Given the description of an element on the screen output the (x, y) to click on. 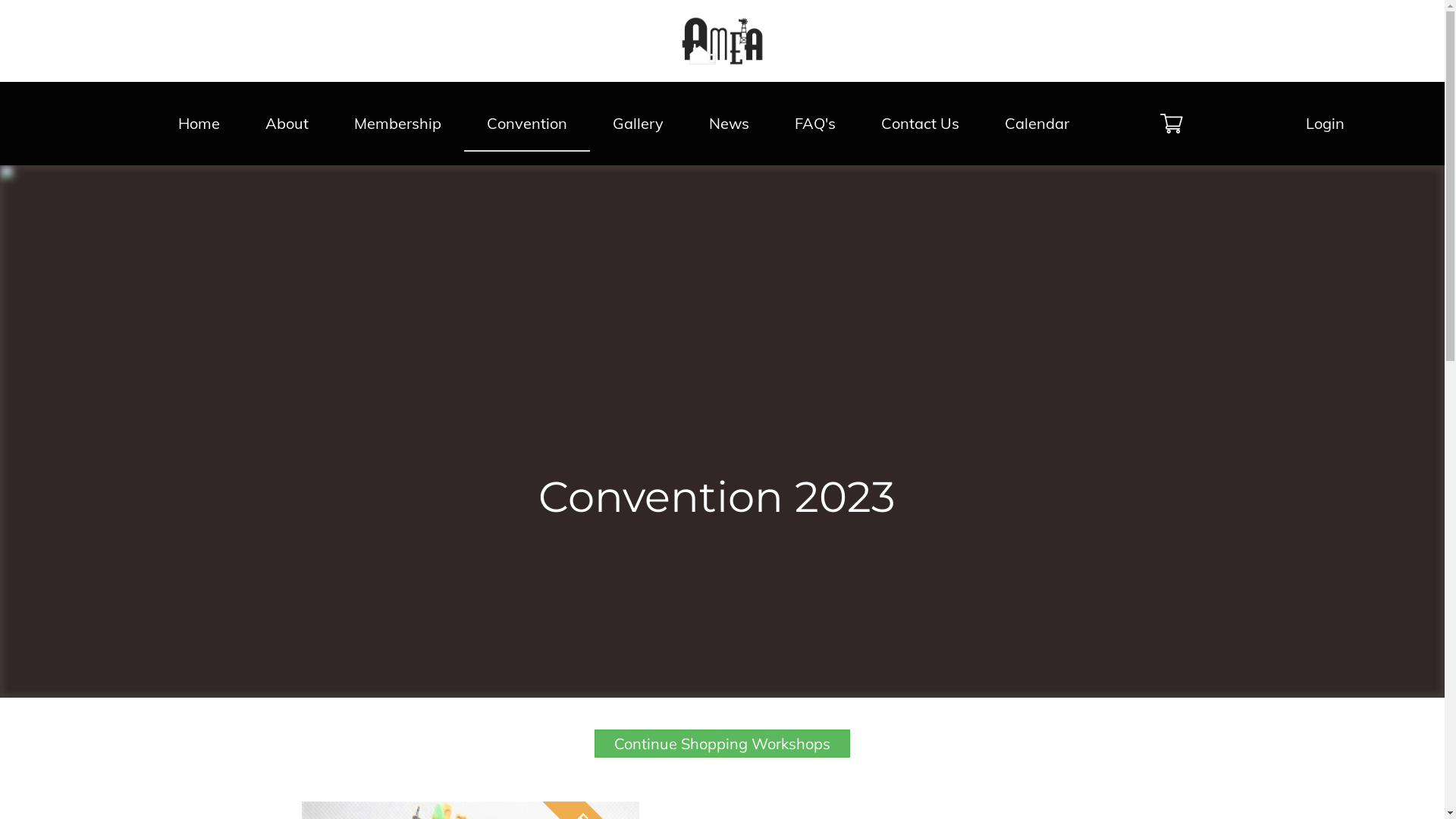
About Element type: text (286, 123)
Contact Us Element type: text (920, 123)
Login Element type: text (1325, 123)
Calendar Element type: text (1036, 123)
FAQ's Element type: text (814, 123)
Home Element type: text (197, 123)
Gallery Element type: text (637, 123)
Membership Element type: text (396, 123)
News Element type: text (728, 123)
Convention Element type: text (526, 123)
Continue Shopping Workshops Element type: text (722, 743)
